Given the description of an element on the screen output the (x, y) to click on. 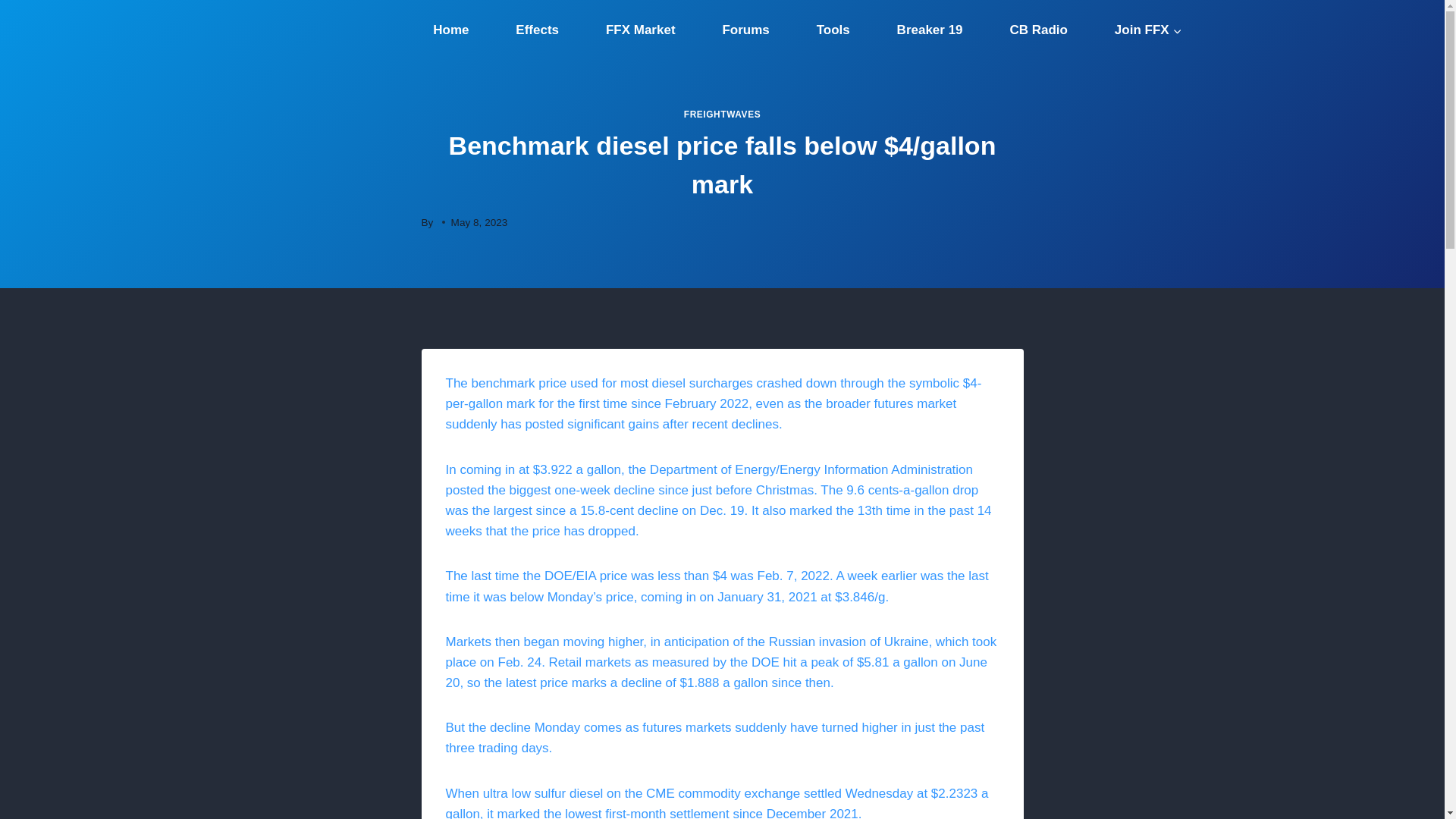
Forums (745, 30)
Effects (536, 30)
Breaker 19 (929, 30)
Tools (833, 30)
Home (451, 30)
CB Radio (1038, 30)
FFX Market (639, 30)
Join FFX (1148, 30)
FREIGHTWAVES (722, 113)
